Given the description of an element on the screen output the (x, y) to click on. 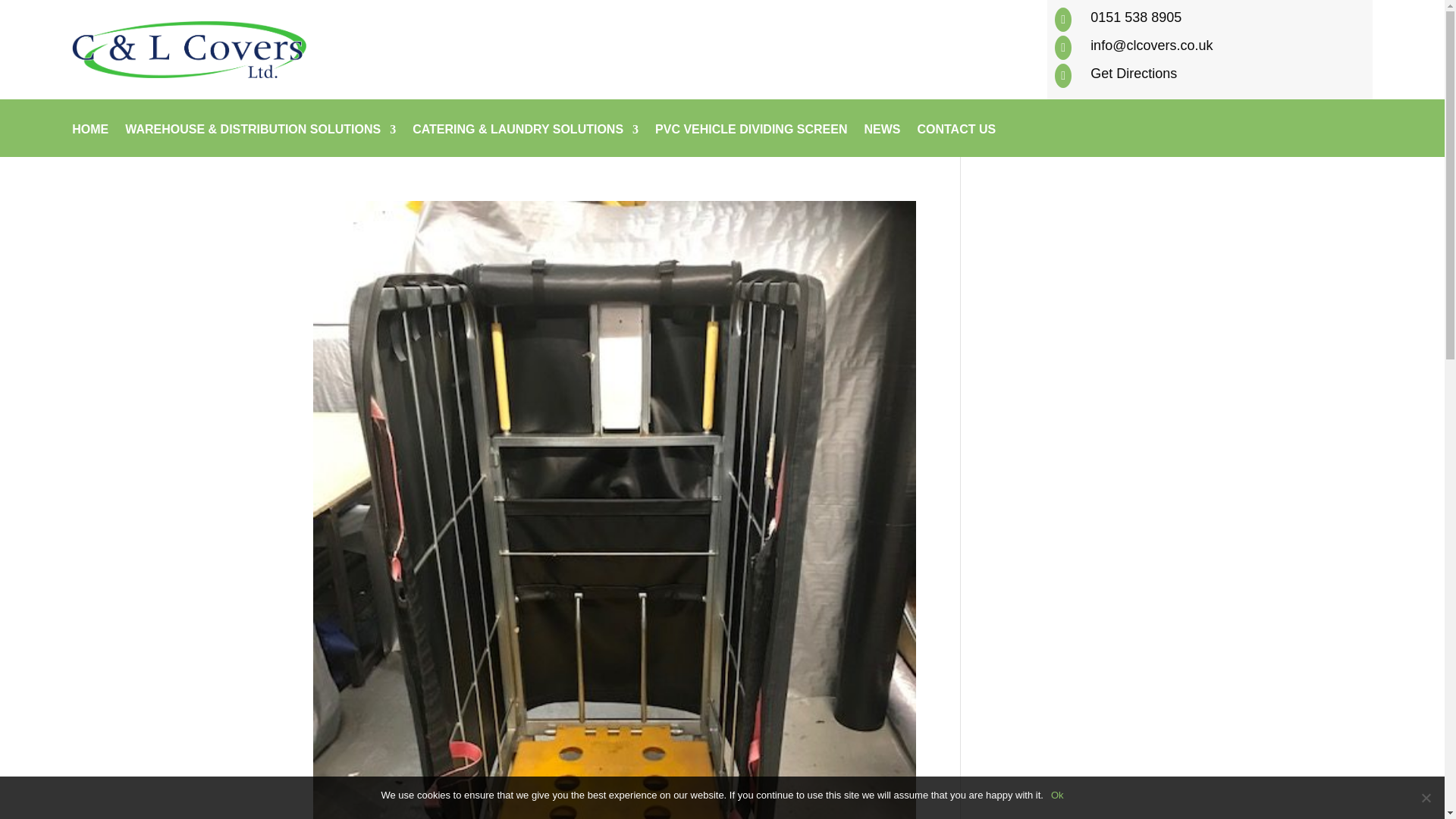
Asset 1xhdpi (188, 48)
HOME (89, 140)
NEWS (881, 140)
No (1425, 797)
PVC VEHICLE DIVIDING SCREEN (751, 140)
CONTACT US (956, 140)
